Given the description of an element on the screen output the (x, y) to click on. 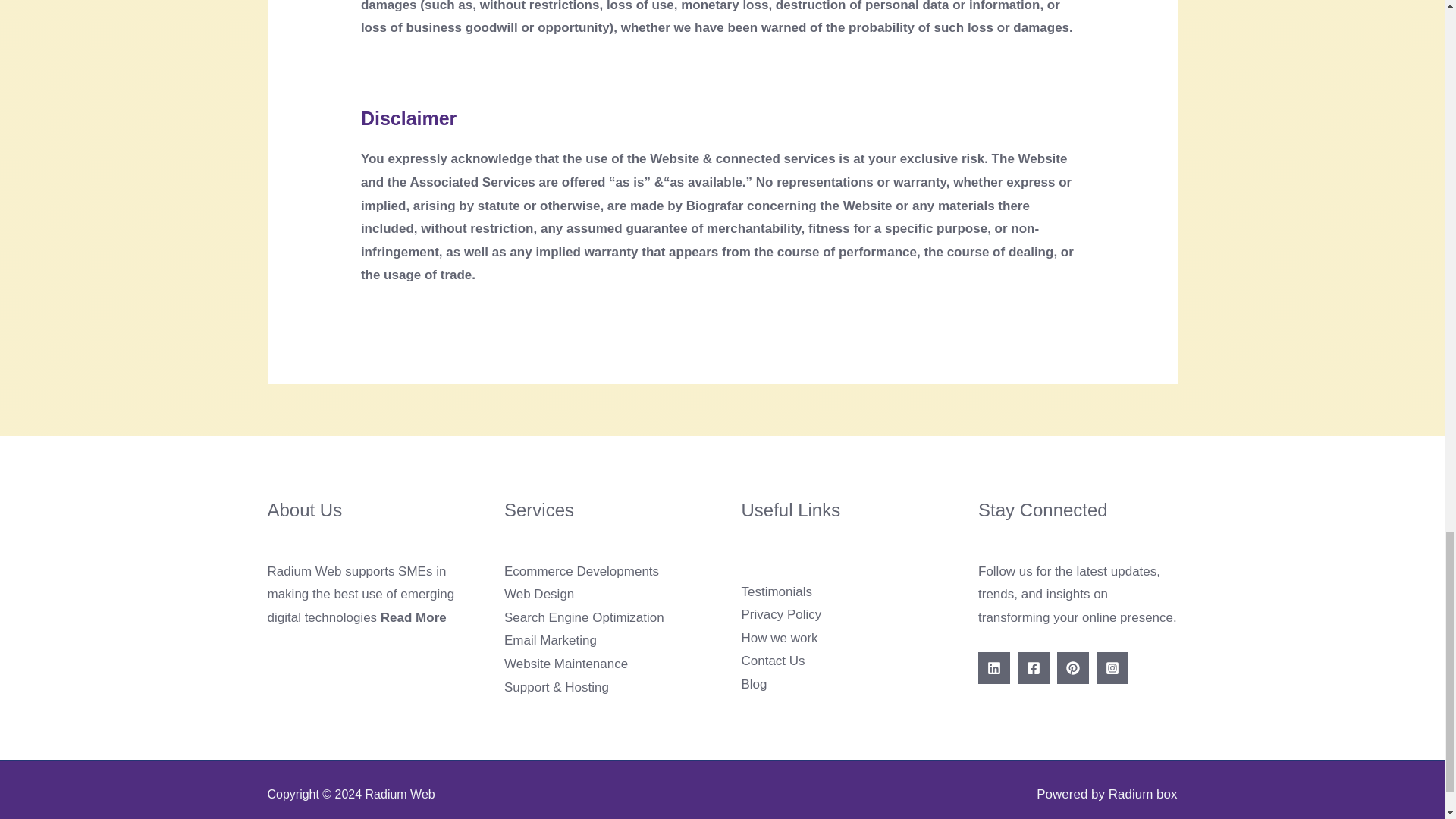
How we work (779, 637)
Contact Us (773, 660)
Privacy Policy (781, 614)
Email Marketing (549, 640)
Read More (413, 617)
Ecommerce Developments (581, 571)
Website Maintenance (565, 663)
Web Design (538, 594)
Search Engine Optimization (583, 617)
Blog (754, 684)
Testimonials (776, 591)
